Given the description of an element on the screen output the (x, y) to click on. 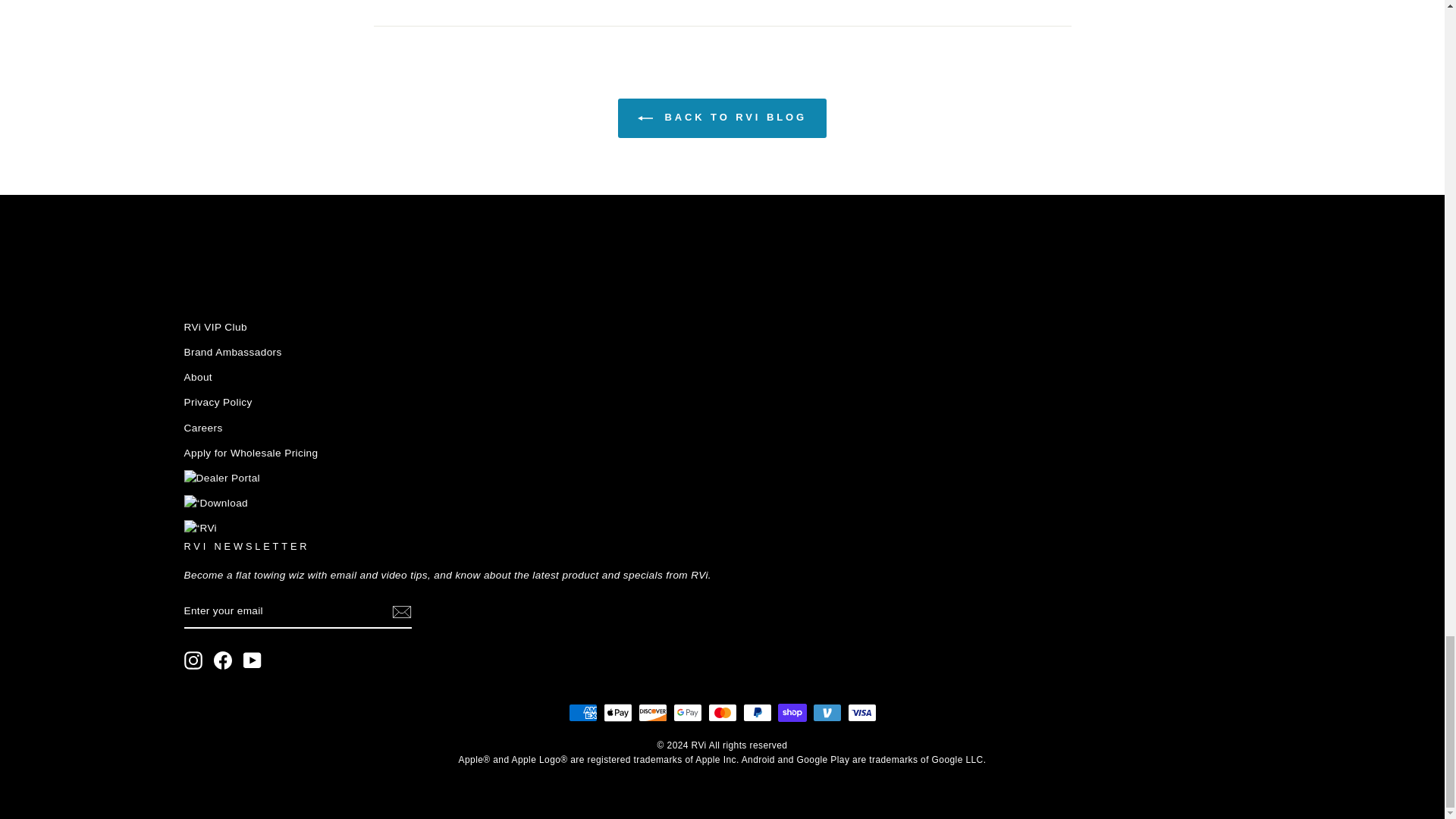
RVi on YouTube (251, 659)
ICON-LEFT-ARROW (644, 118)
icon-email (400, 612)
RVi on Instagram (192, 659)
RVi on Facebook (222, 659)
RVi Dealer Direct Portal (221, 477)
instagram (192, 659)
RVi App (215, 503)
Apple Pay (617, 712)
American Express (582, 712)
